Given the description of an element on the screen output the (x, y) to click on. 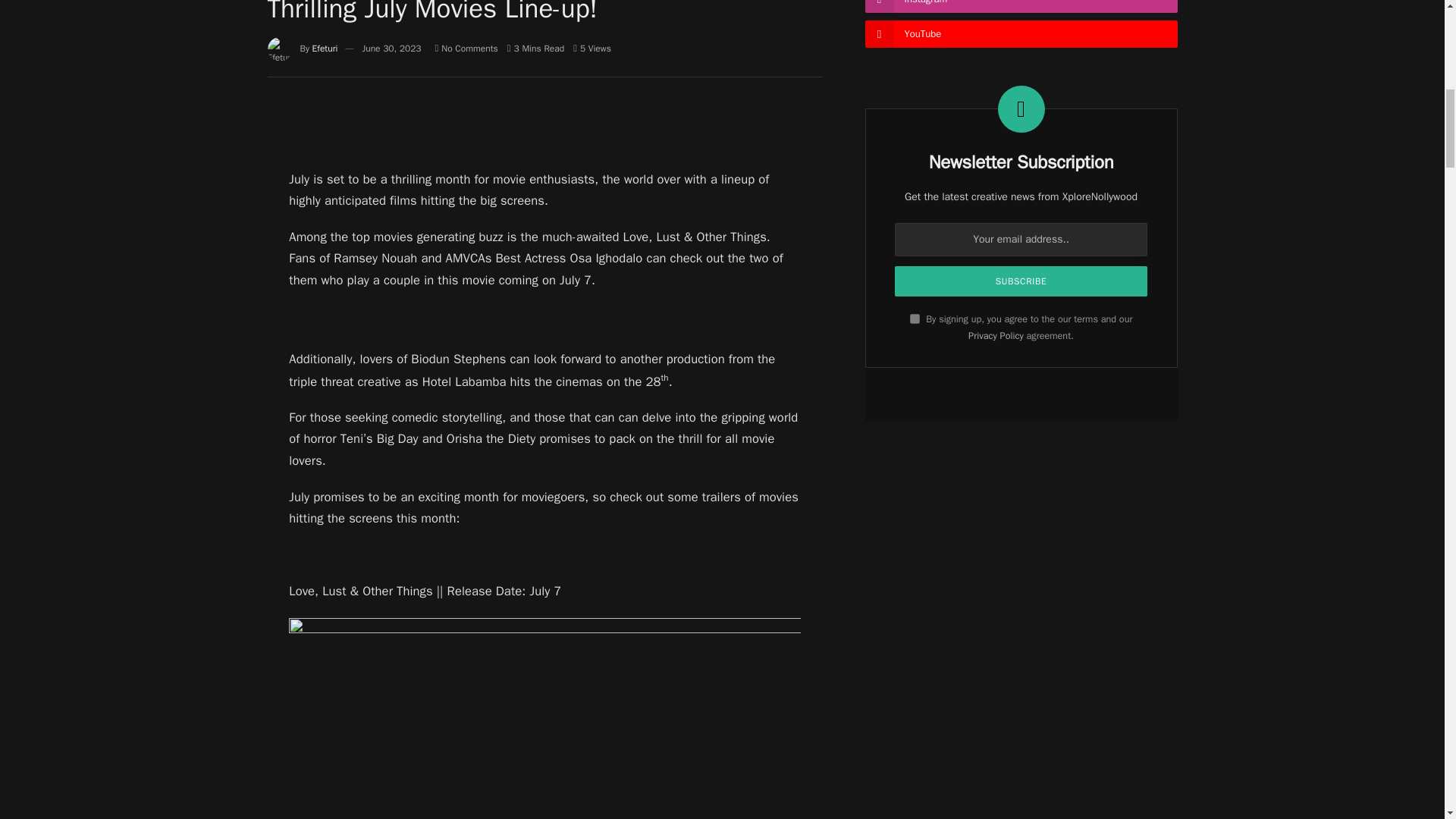
Subscribe (1021, 281)
Posts by Efeturi (325, 48)
5 Article Views (592, 48)
on (915, 318)
